Given the description of an element on the screen output the (x, y) to click on. 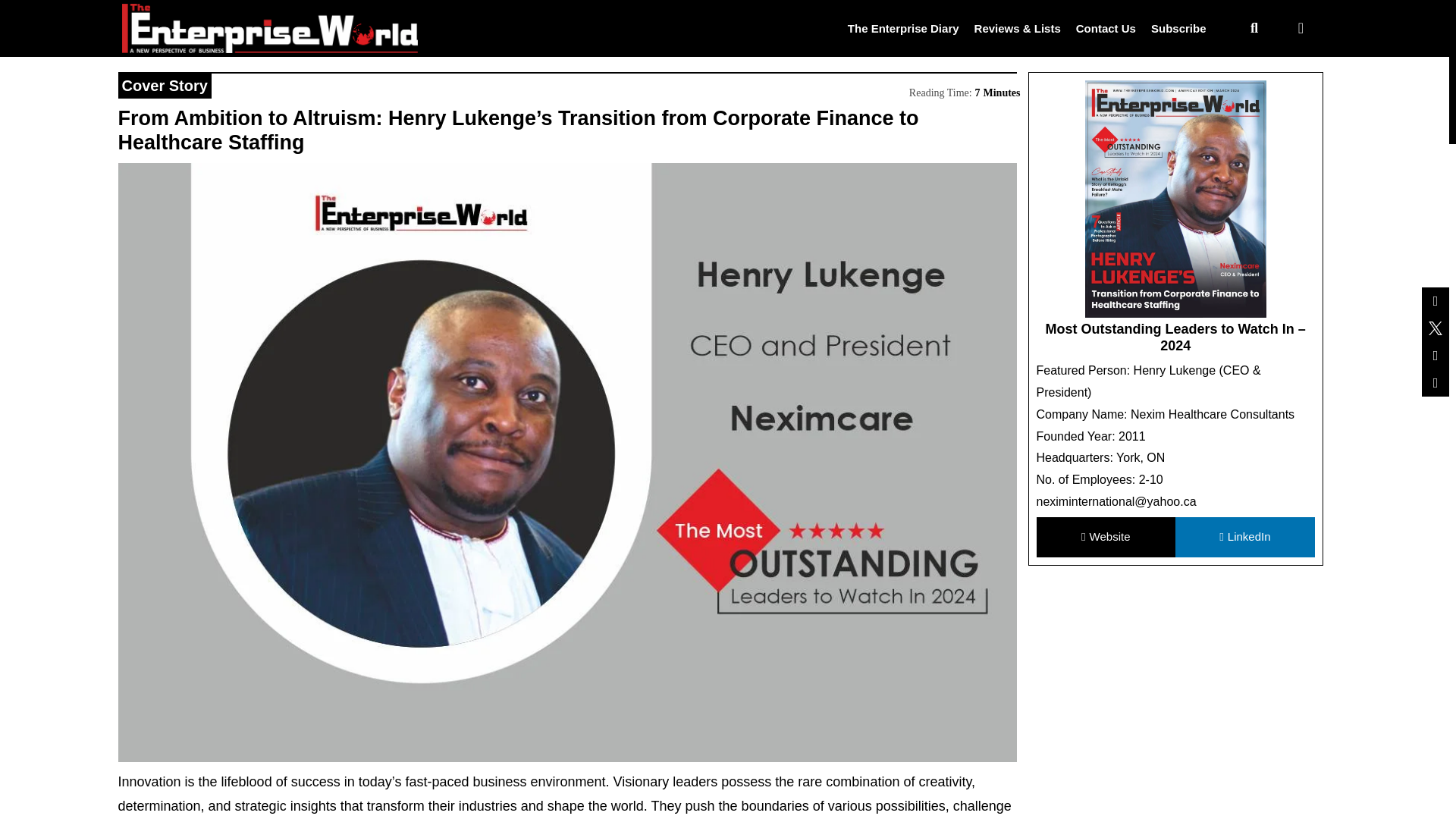
Cover Story (163, 85)
Subscribe (1179, 28)
Contact Us (1105, 28)
LinkedIn (1244, 536)
Website (1104, 536)
The Enterprise Diary (903, 28)
